Given the description of an element on the screen output the (x, y) to click on. 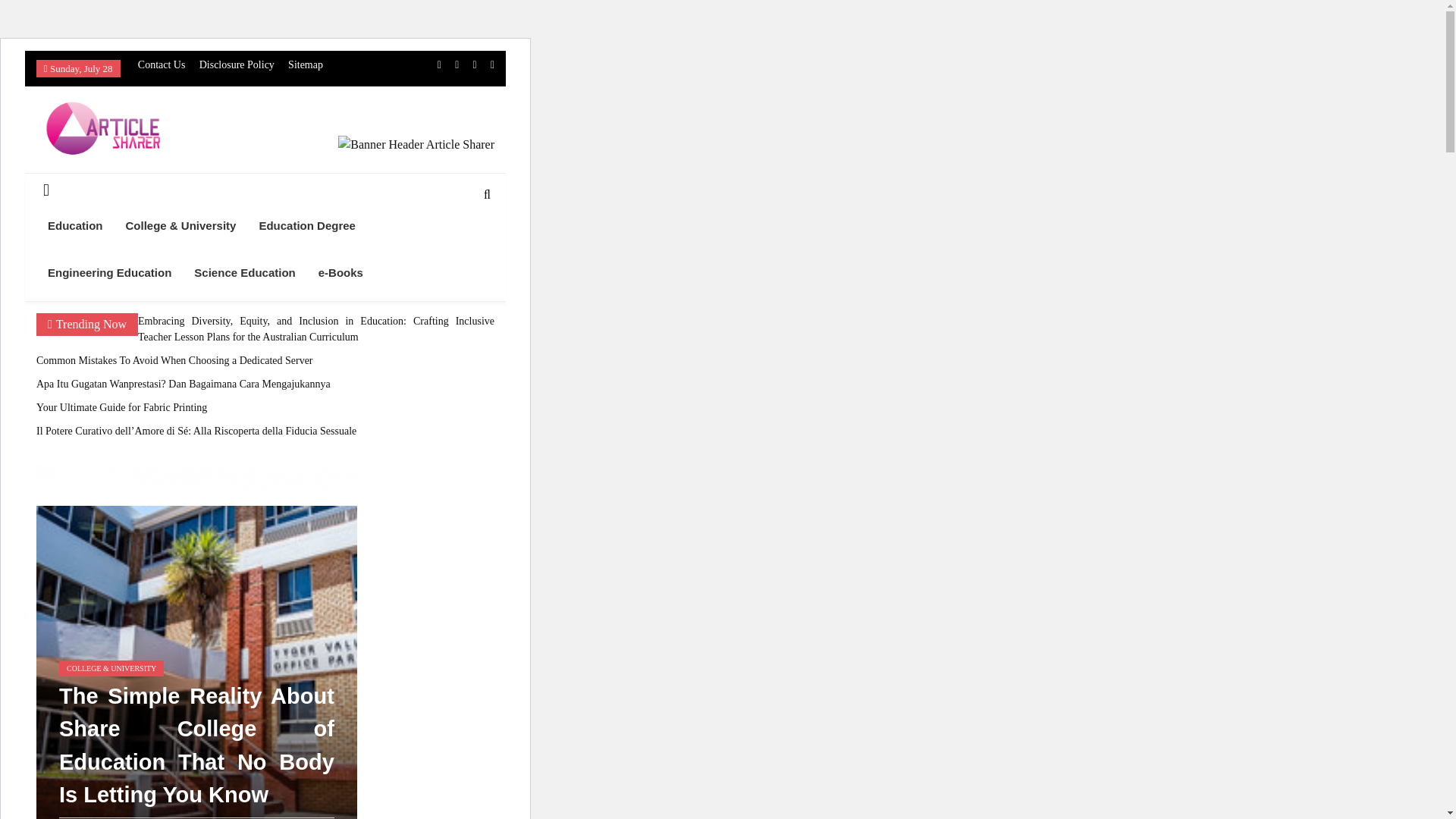
Education (75, 226)
Education Degree (306, 226)
Your Ultimate Guide for Fabric Printing (121, 407)
Disclosure Policy (237, 64)
Common Mistakes To Avoid When Choosing a Dedicated Server (174, 360)
Search (462, 242)
Engineering Education (109, 273)
e-Books (340, 273)
Contact Us (162, 64)
Sitemap (305, 64)
Science Education (244, 273)
